Given the description of an element on the screen output the (x, y) to click on. 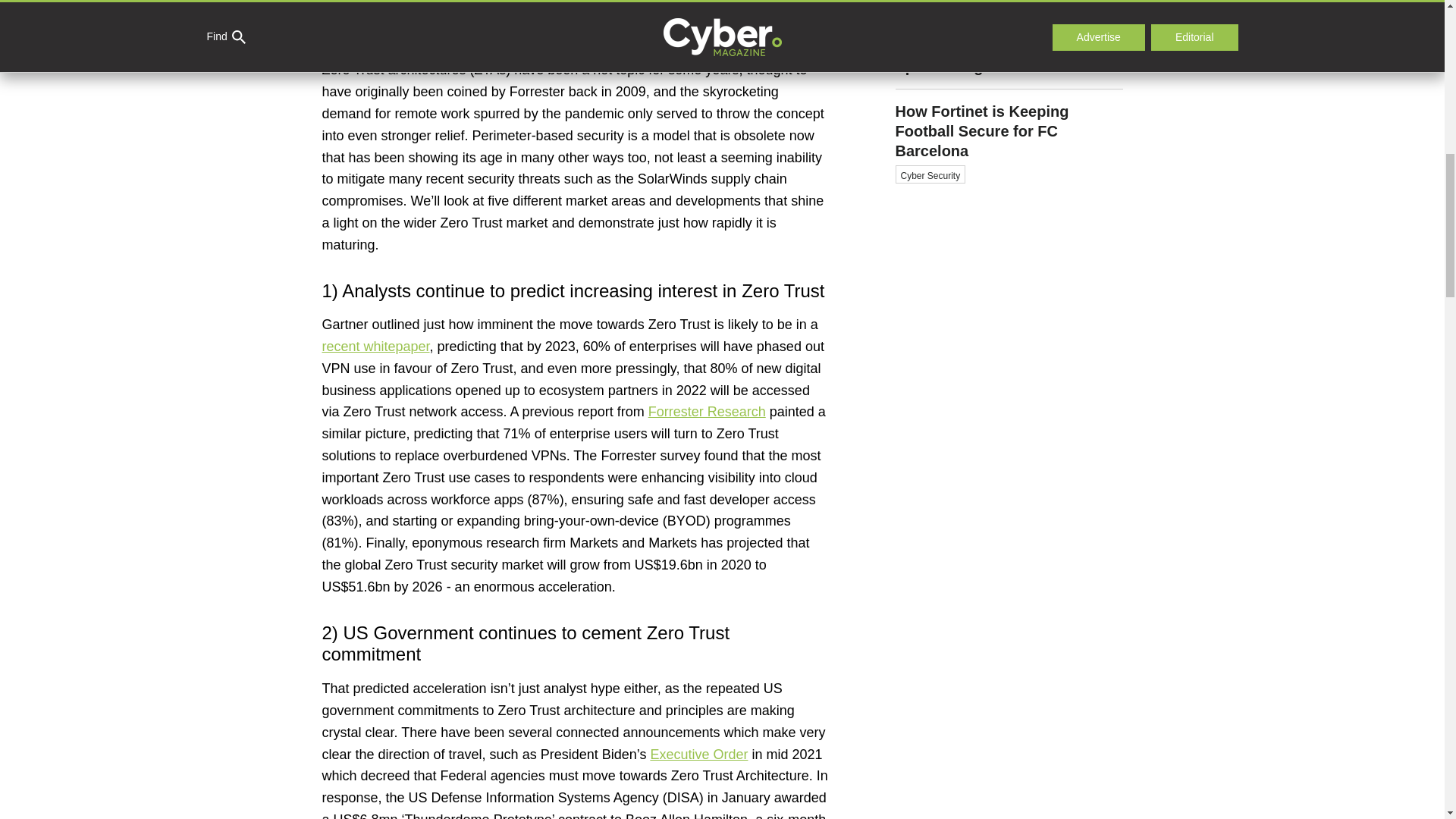
Executive Order (698, 754)
recent whitepaper (375, 346)
Forrester Research (706, 411)
